Given the description of an element on the screen output the (x, y) to click on. 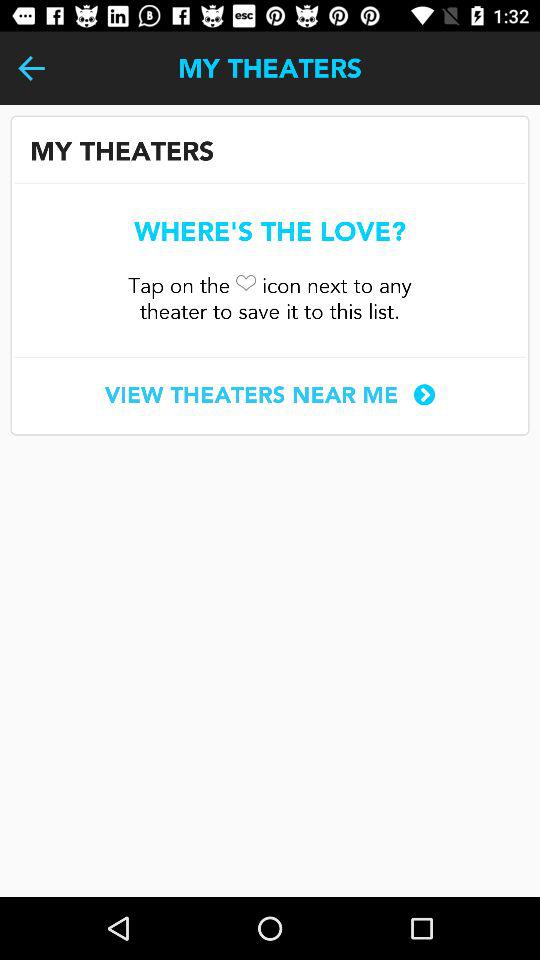
go back (31, 67)
